Given the description of an element on the screen output the (x, y) to click on. 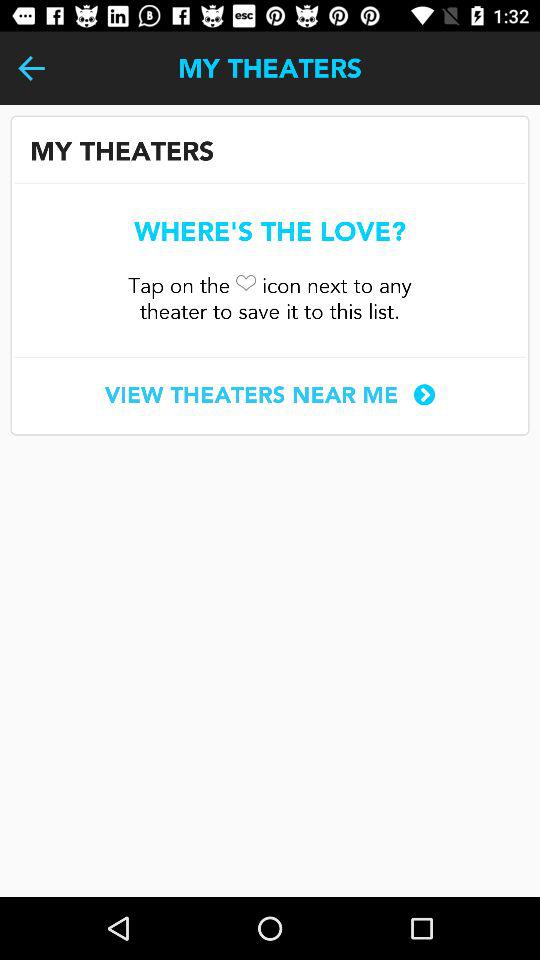
go back (31, 67)
